Given the description of an element on the screen output the (x, y) to click on. 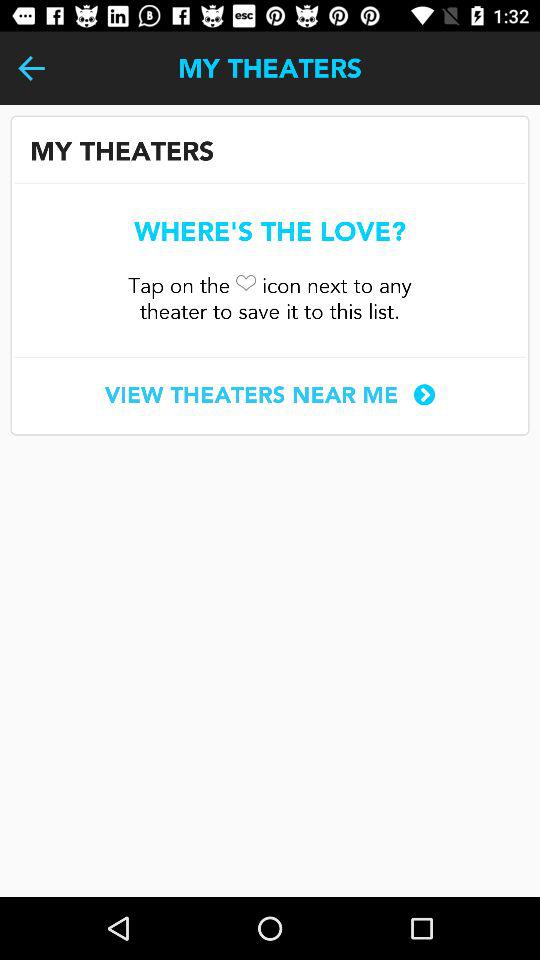
go back (31, 67)
